Given the description of an element on the screen output the (x, y) to click on. 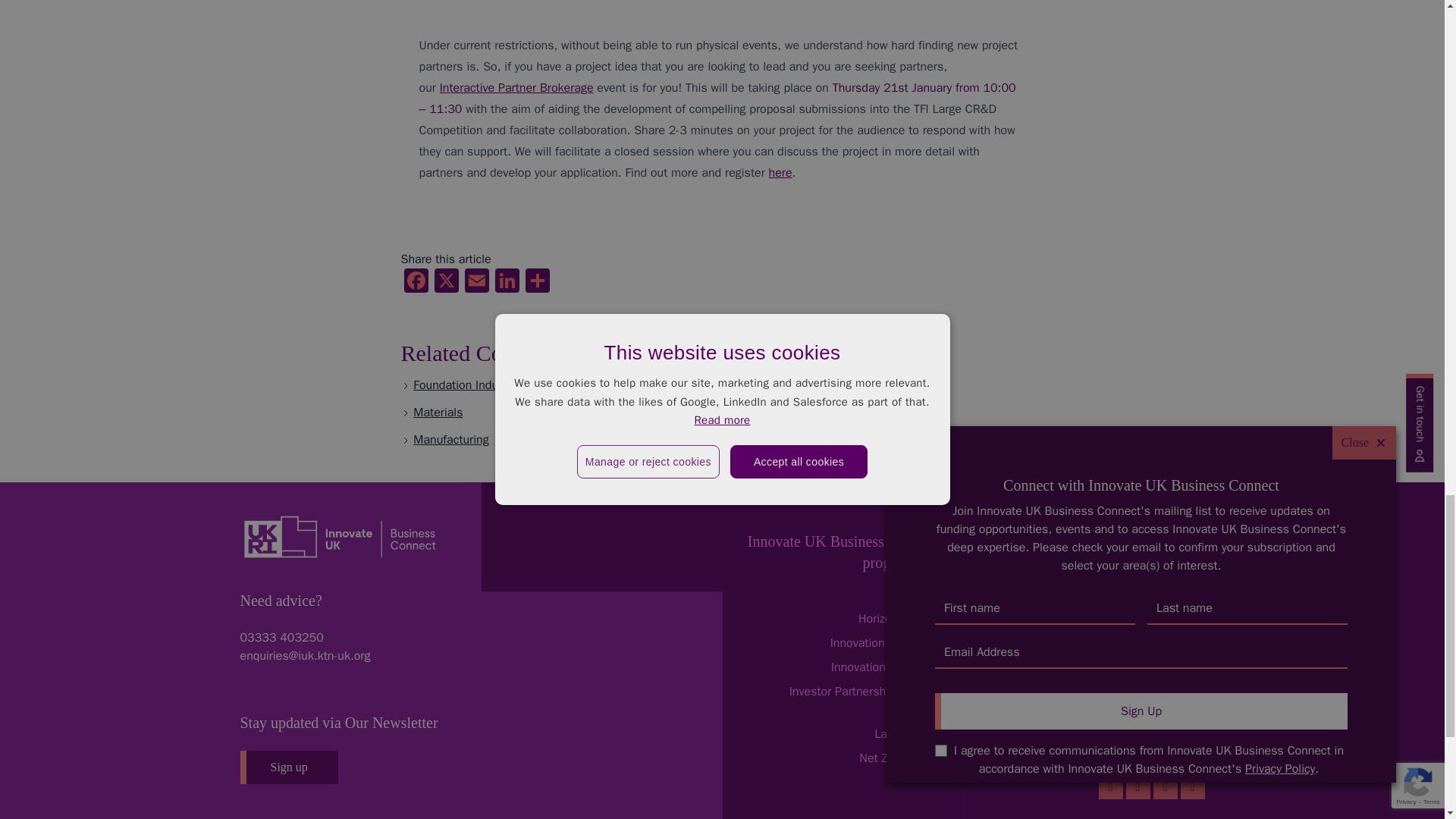
Facebook (415, 282)
Email (476, 282)
LinkedIn (506, 282)
X (445, 282)
